Given the description of an element on the screen output the (x, y) to click on. 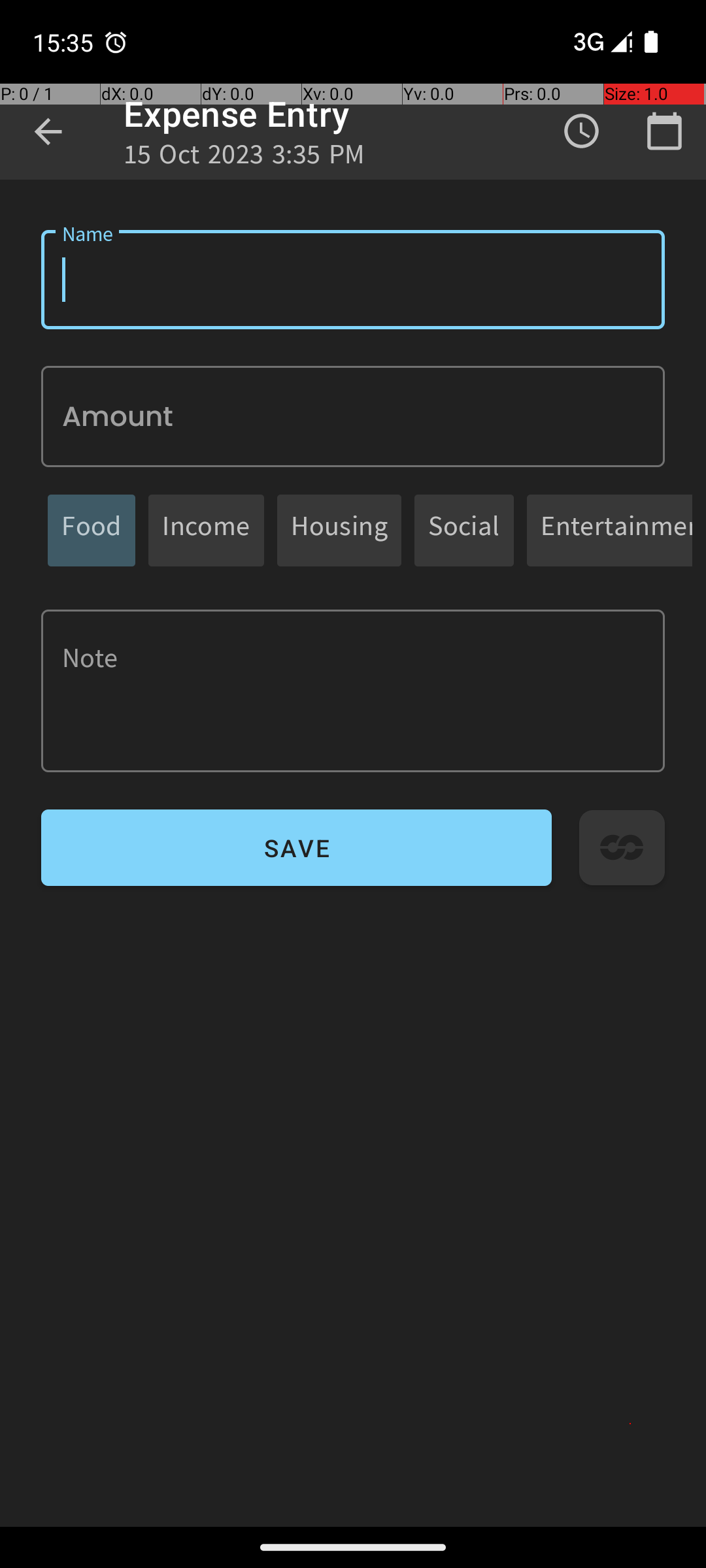
15 Oct 2023 3:35 PM Element type: android.widget.TextView (244, 157)
